Given the description of an element on the screen output the (x, y) to click on. 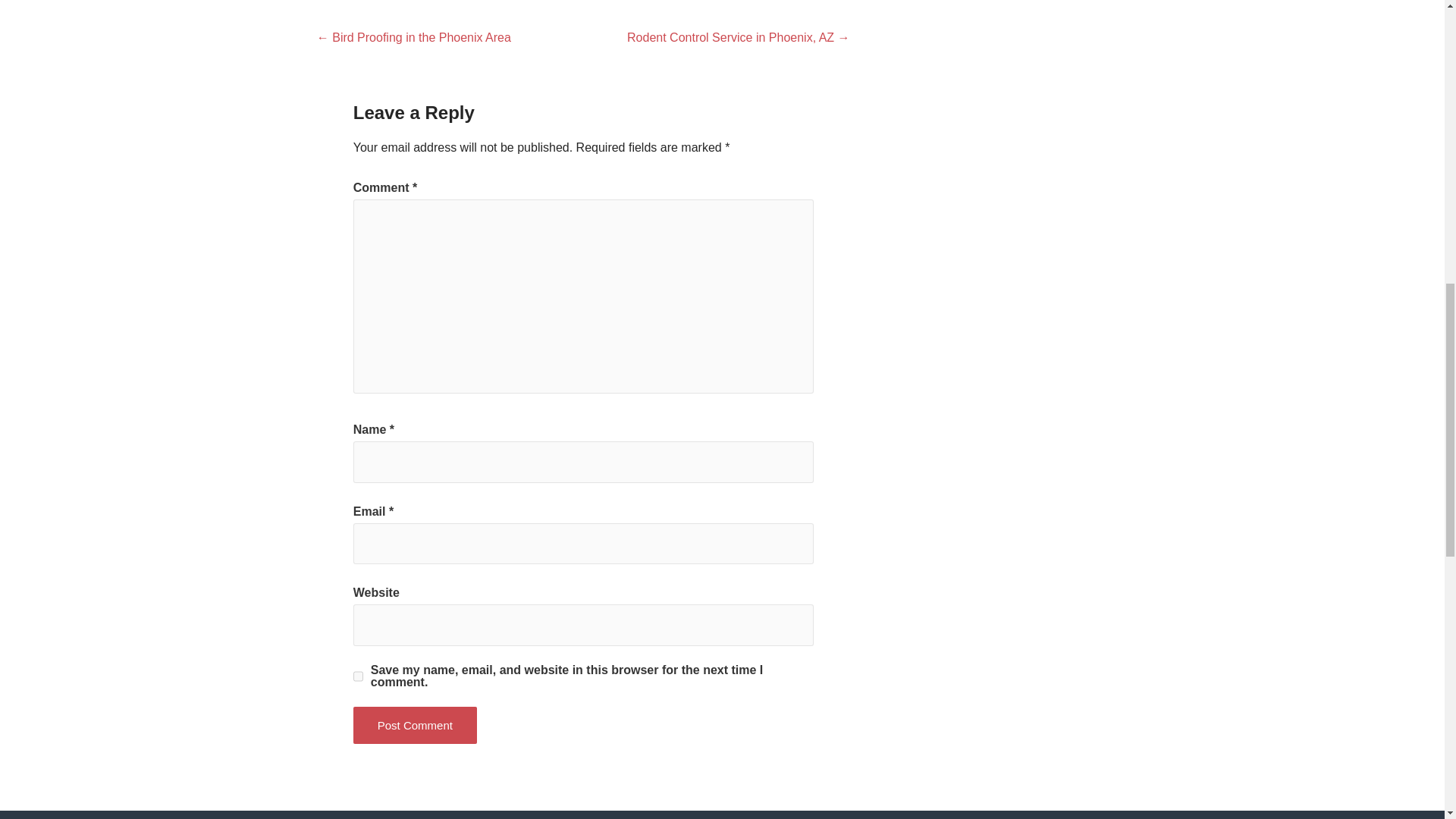
Post Comment (415, 724)
Post Comment (415, 724)
yes (357, 676)
